Given the description of an element on the screen output the (x, y) to click on. 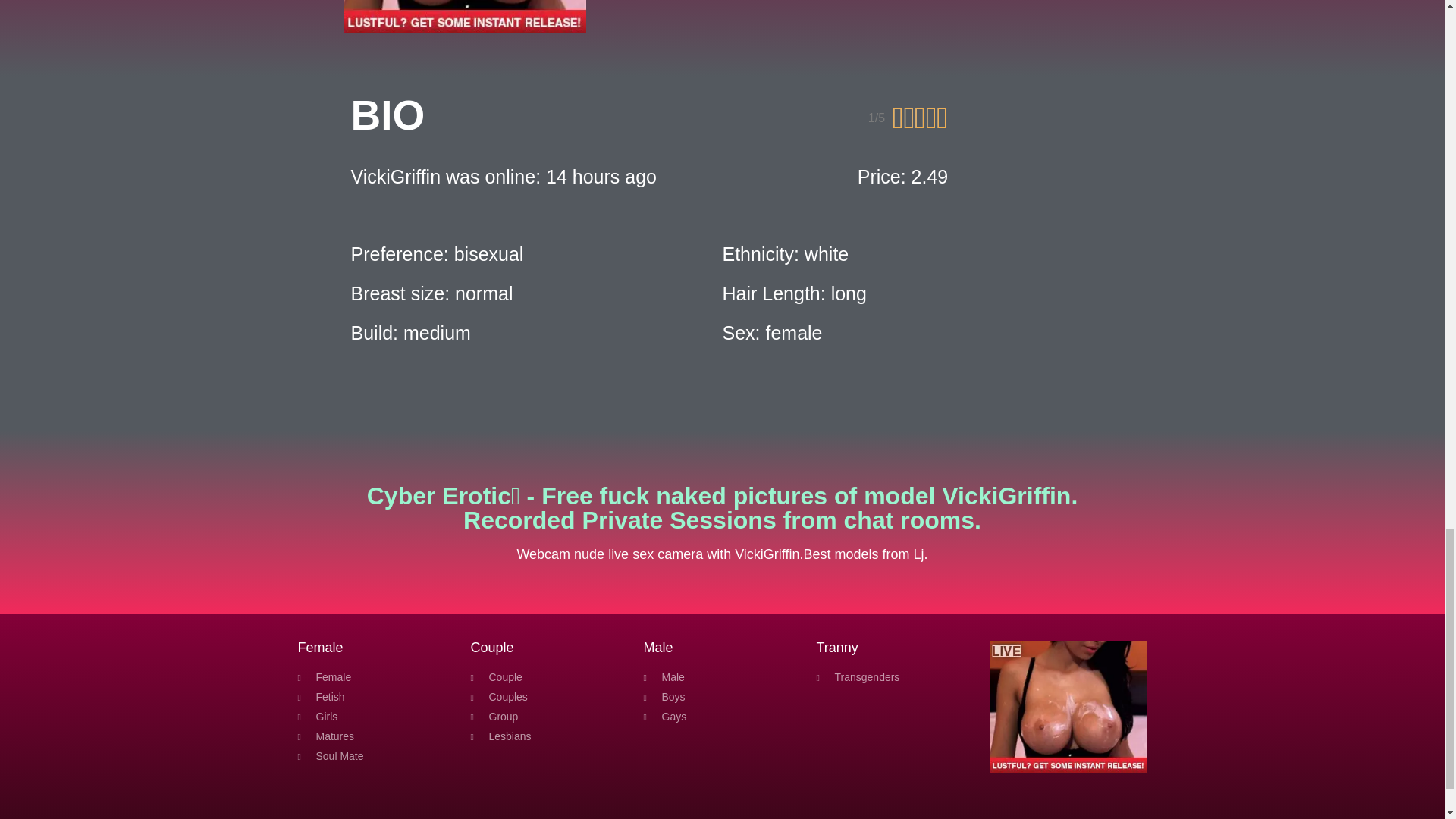
Fetish (375, 697)
Female (375, 677)
